Given the description of an element on the screen output the (x, y) to click on. 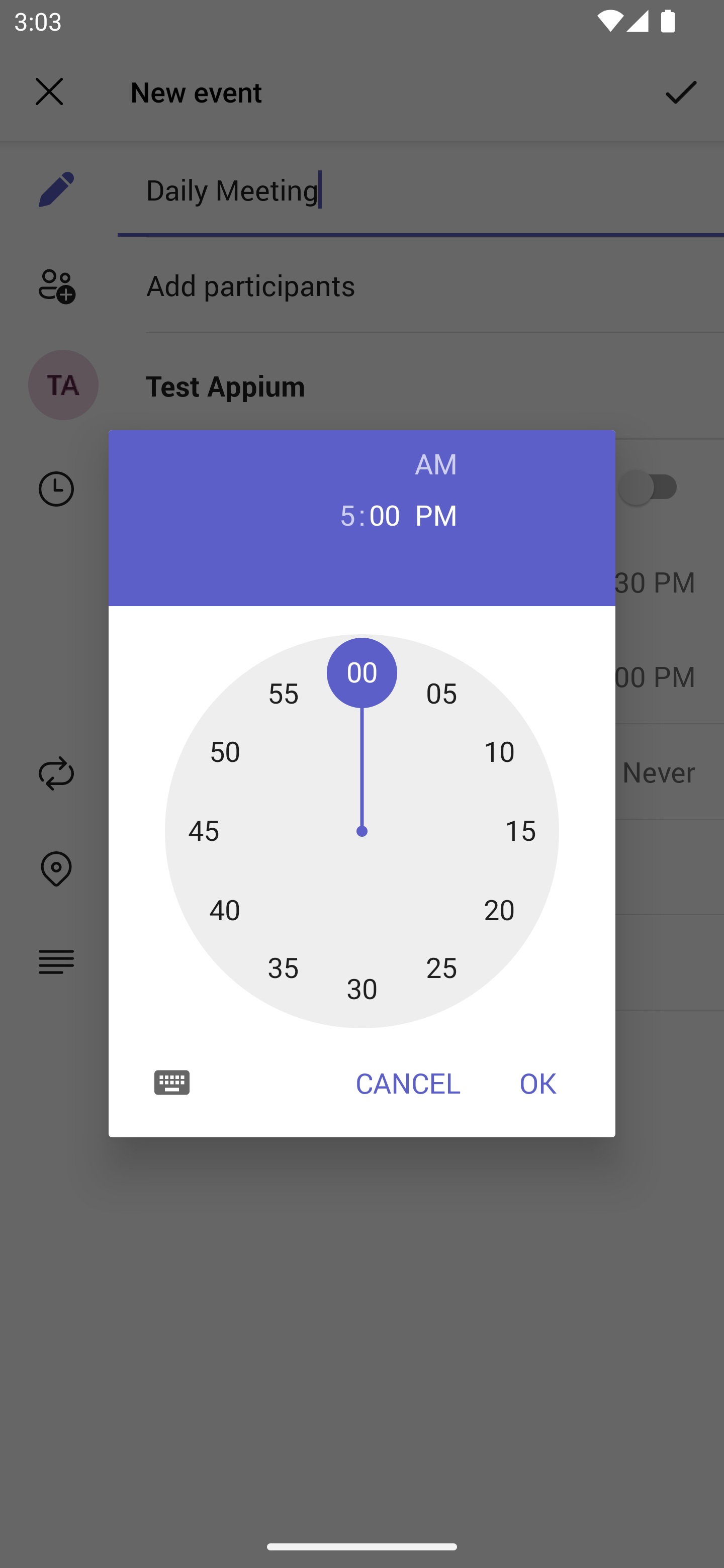
AM (435, 463)
PM (435, 514)
5 (338, 514)
00 (384, 514)
CANCEL (407, 1082)
OK (537, 1082)
Switch to text input mode for the time input. (171, 1081)
